Given the description of an element on the screen output the (x, y) to click on. 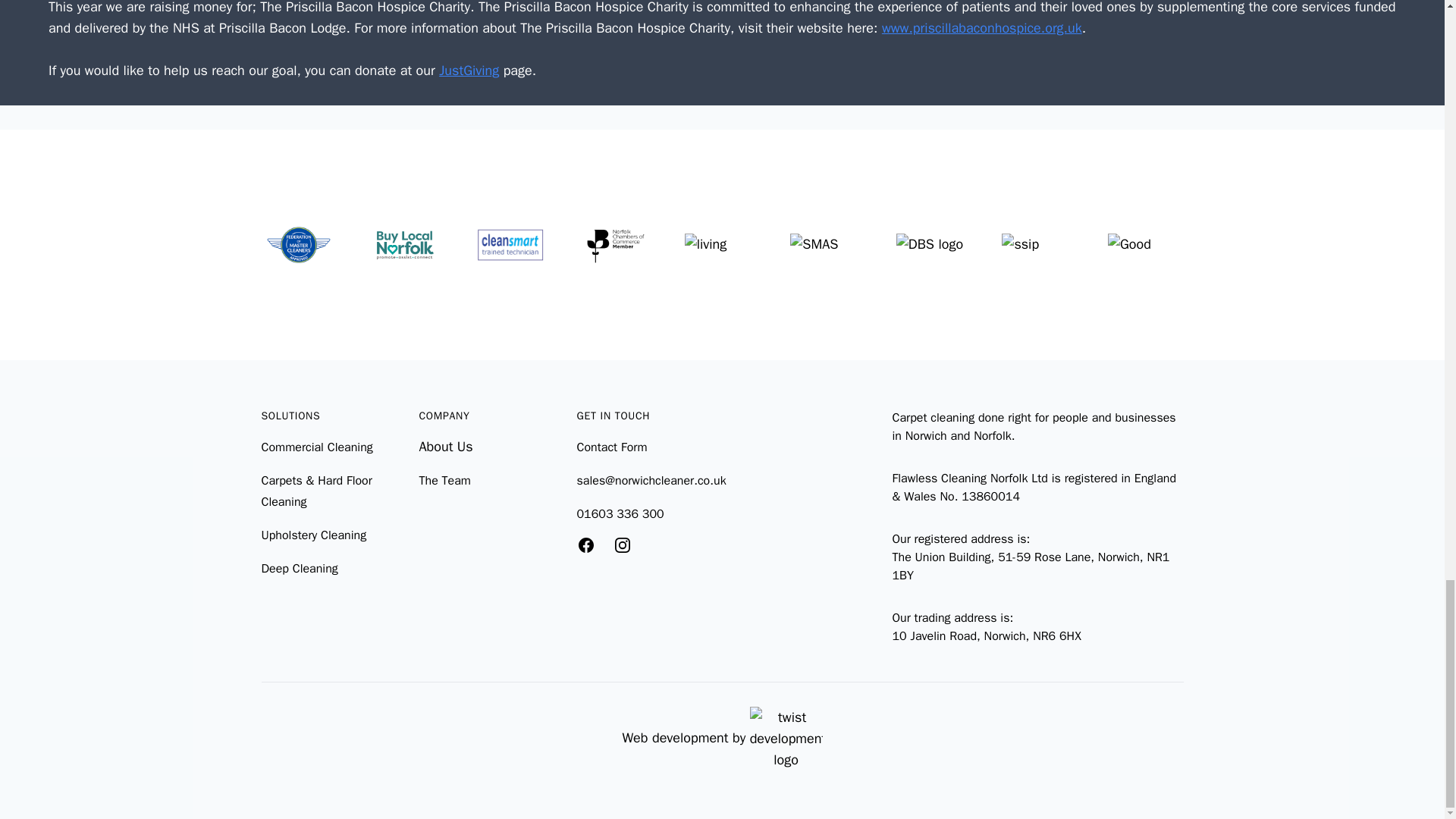
www.priscillabaconhospice.org.uk (981, 27)
The Team (444, 480)
Instagram (621, 545)
01603 336 300 (619, 513)
Upholstery Cleaning (313, 534)
Contact Form (611, 447)
Facebook (585, 545)
About Us (445, 446)
Commercial Cleaning (316, 447)
Deep Cleaning (298, 568)
JustGiving (469, 70)
